Given the description of an element on the screen output the (x, y) to click on. 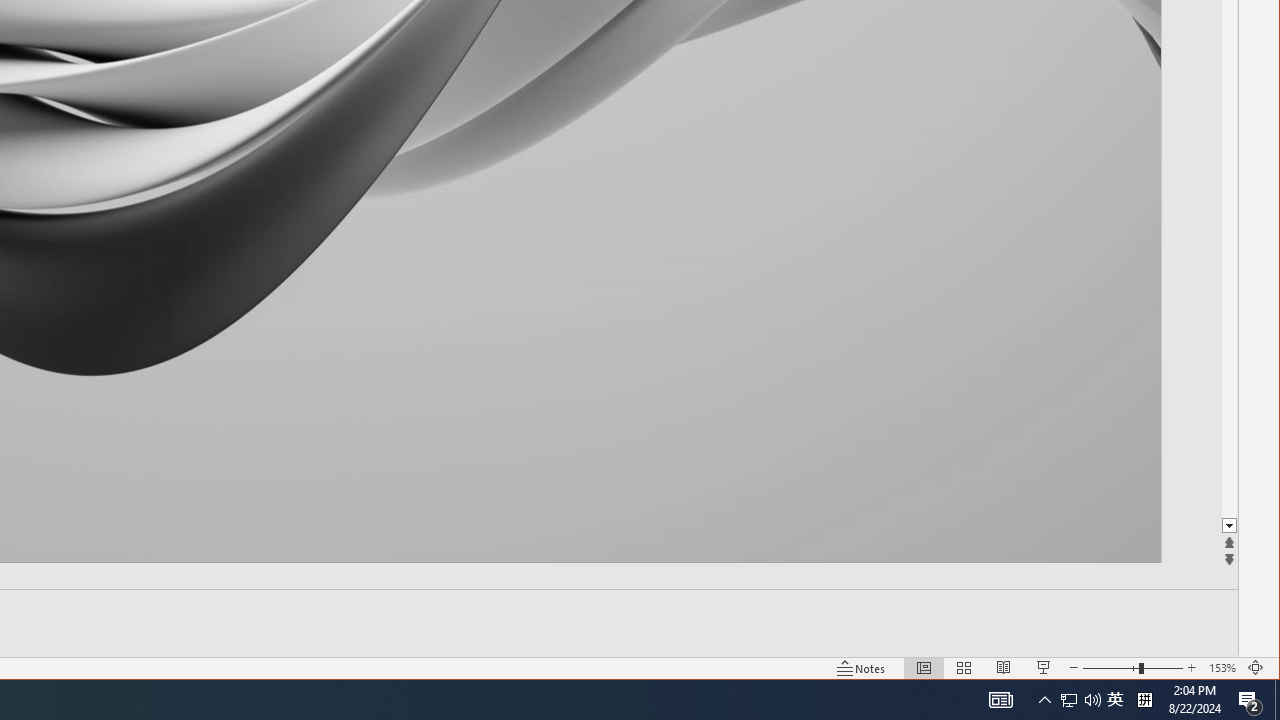
Zoom 153% (1222, 668)
